Given the description of an element on the screen output the (x, y) to click on. 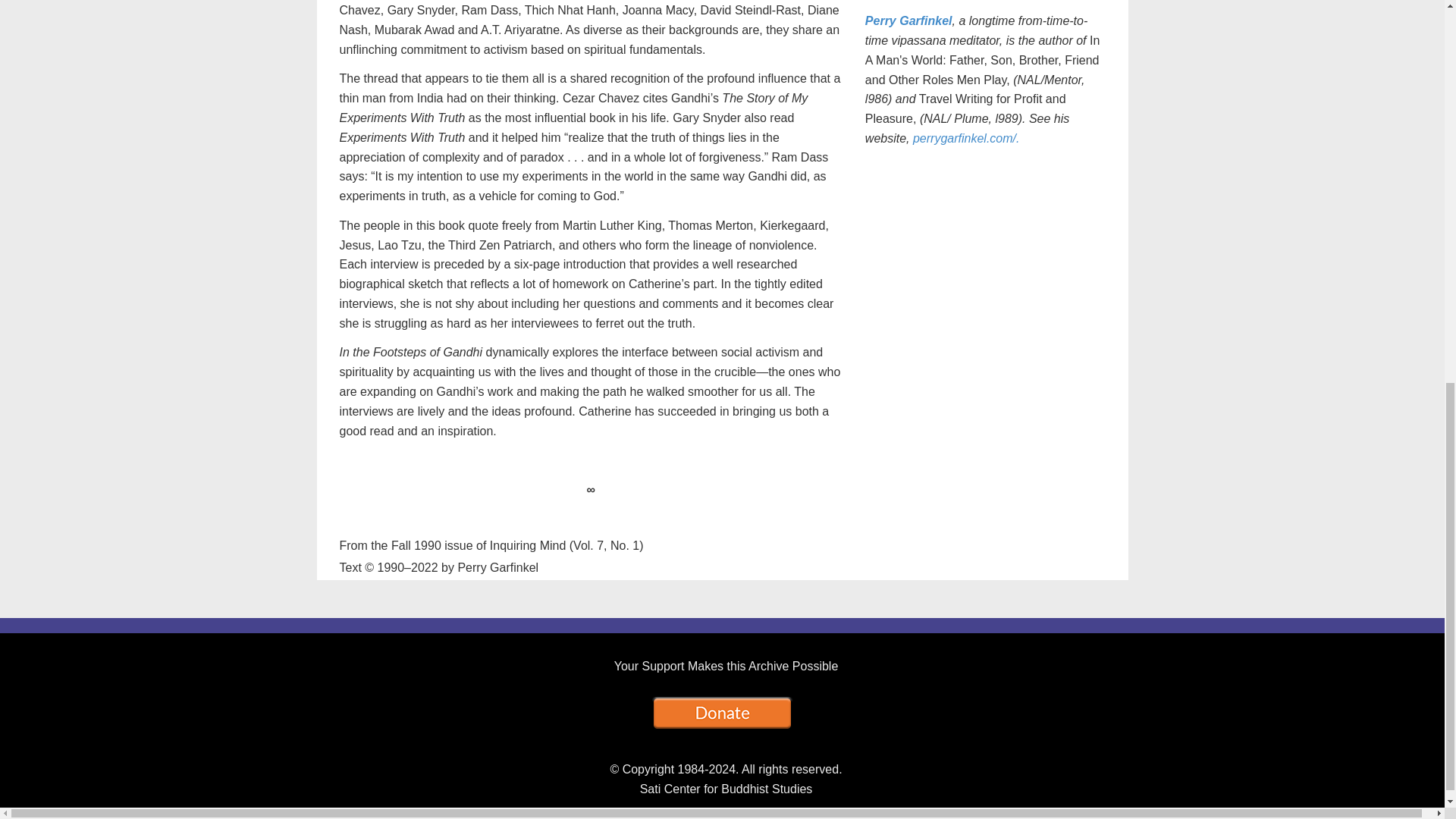
Perry Garfinkel (908, 20)
